Given the description of an element on the screen output the (x, y) to click on. 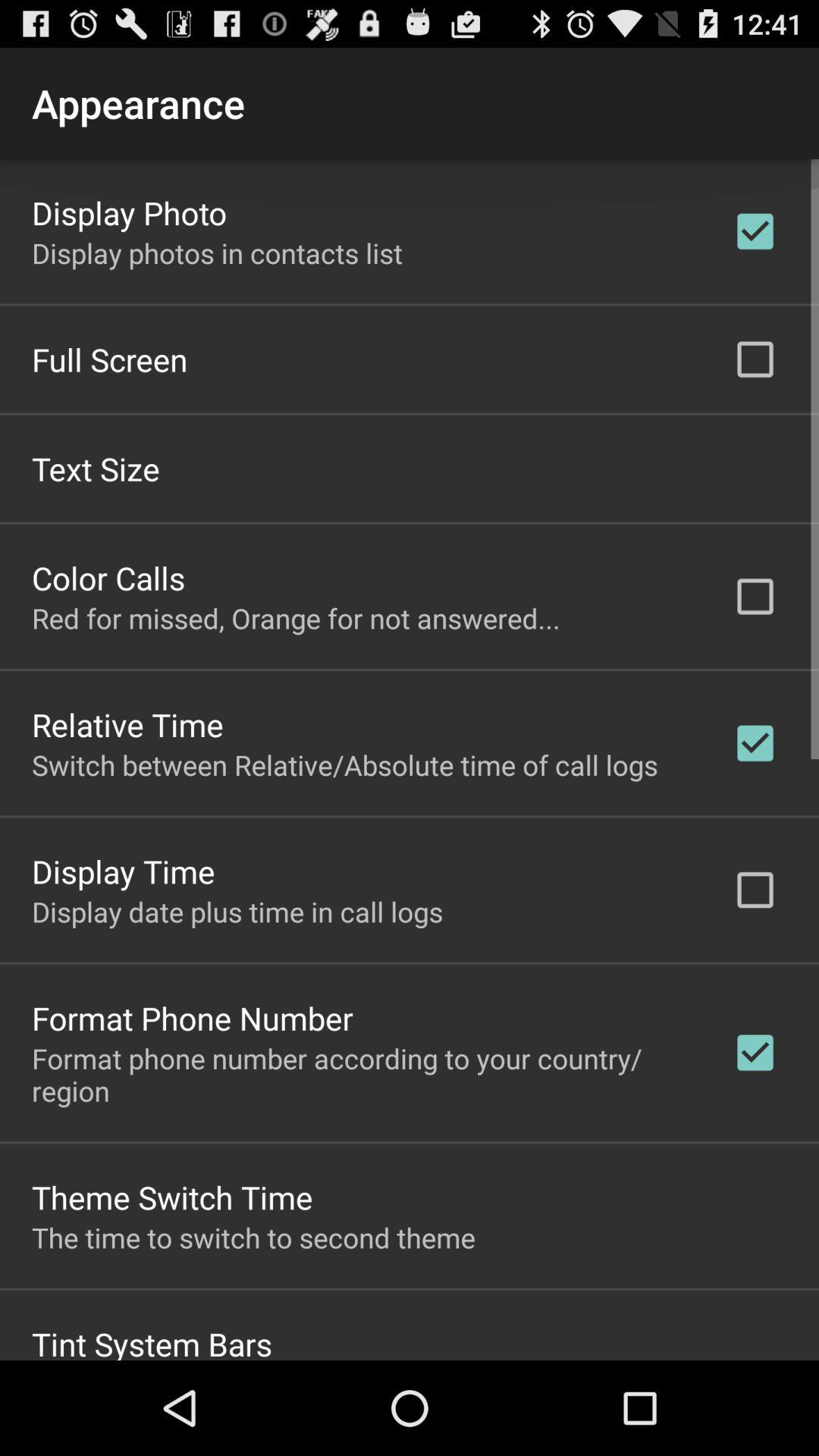
click the item above display time icon (344, 764)
